Given the description of an element on the screen output the (x, y) to click on. 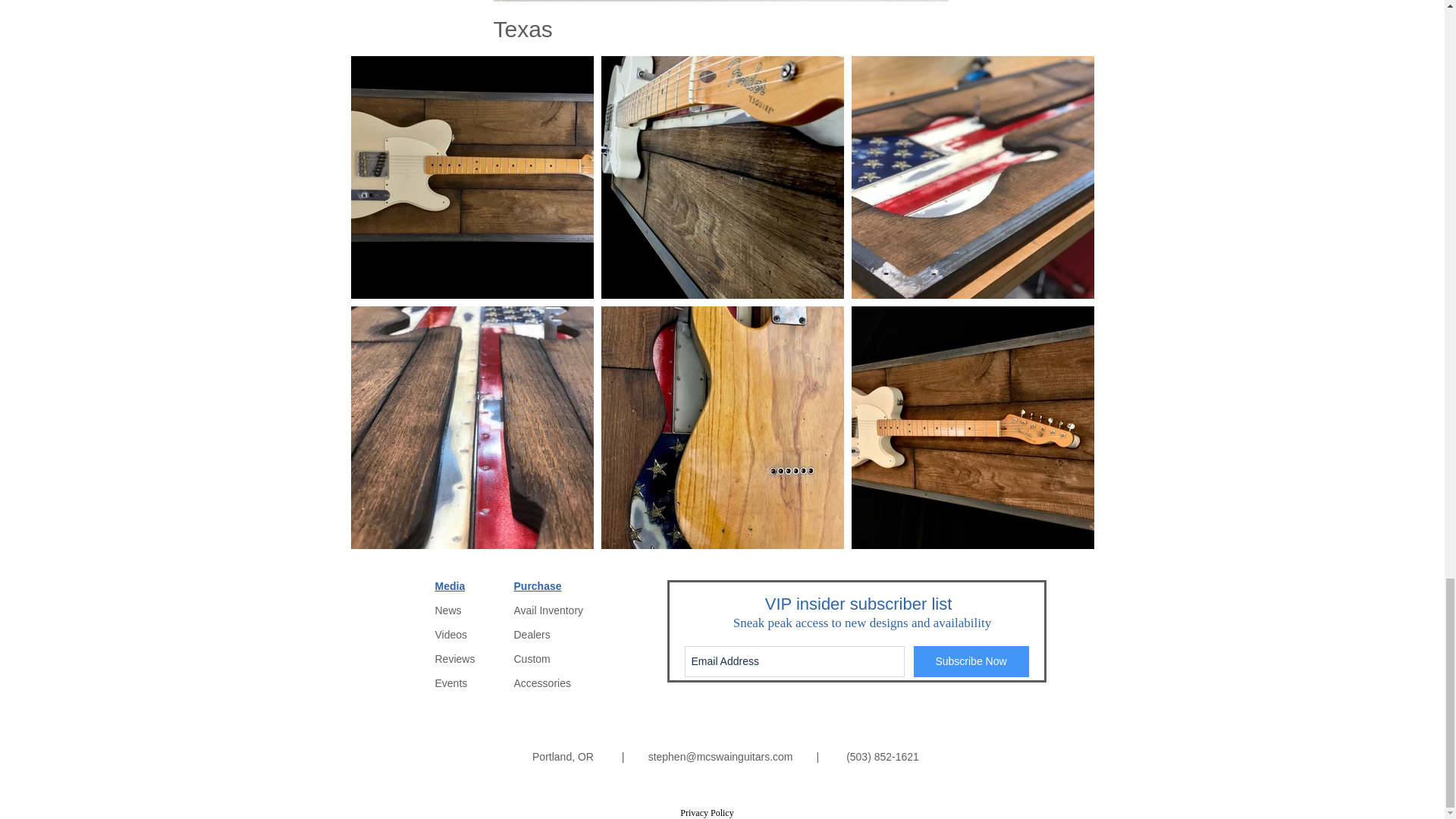
Custom (531, 658)
Privacy Policy (706, 812)
News (448, 610)
Subscribe Now (969, 661)
Videos (451, 634)
Accessories (541, 683)
Avail Inventory (548, 610)
Dealers (531, 634)
Reviews (455, 658)
